Given the description of an element on the screen output the (x, y) to click on. 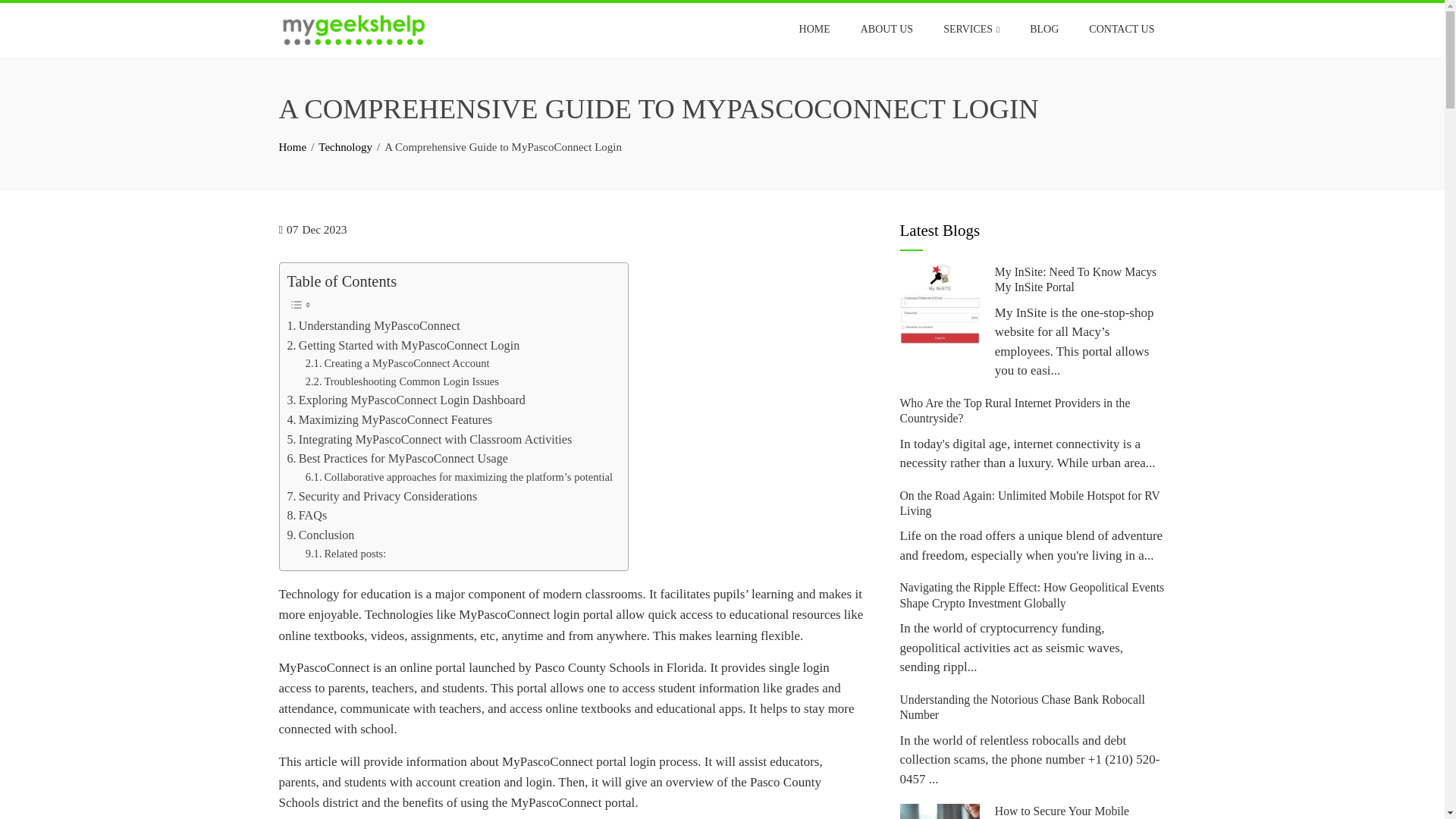
Exploring MyPascoConnect Login Dashboard (405, 400)
Related posts: (346, 553)
Security and Privacy Considerations  (383, 496)
Maximizing MyPascoConnect Features (389, 419)
Integrating MyPascoConnect with Classroom Activities (429, 439)
HOME (814, 29)
CONTACT US (1121, 29)
Creating a MyPascoConnect Account (397, 363)
Troubleshooting Common Login Issues (402, 381)
Conclusion (319, 535)
